Given the description of an element on the screen output the (x, y) to click on. 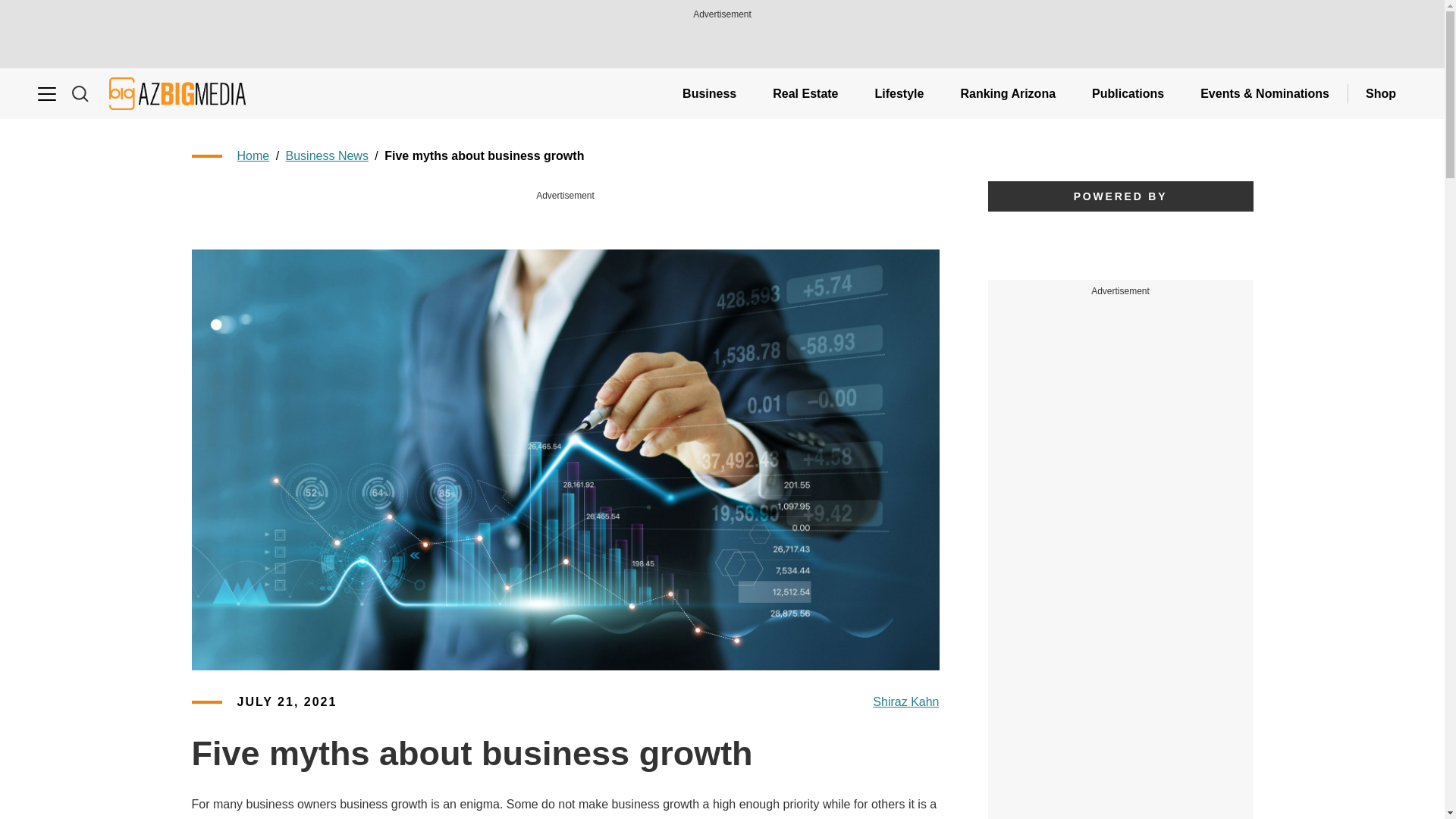
Posts by Shiraz Kahn (905, 702)
Business (708, 92)
AZ Big Media Logo (177, 92)
